Given the description of an element on the screen output the (x, y) to click on. 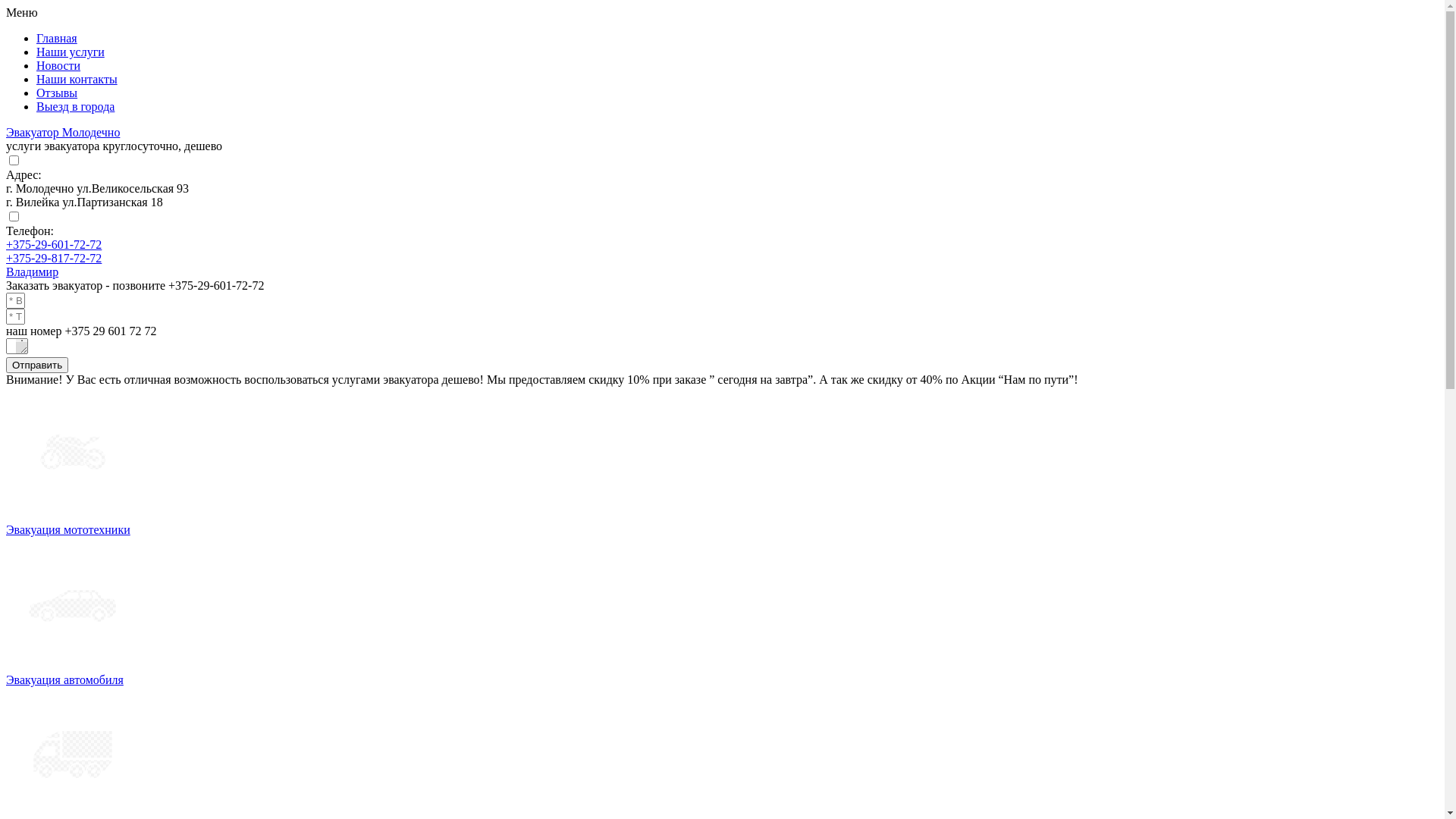
+375-29-817-72-72 Element type: text (53, 257)
+375-29-601-72-72 Element type: text (53, 244)
